Given the description of an element on the screen output the (x, y) to click on. 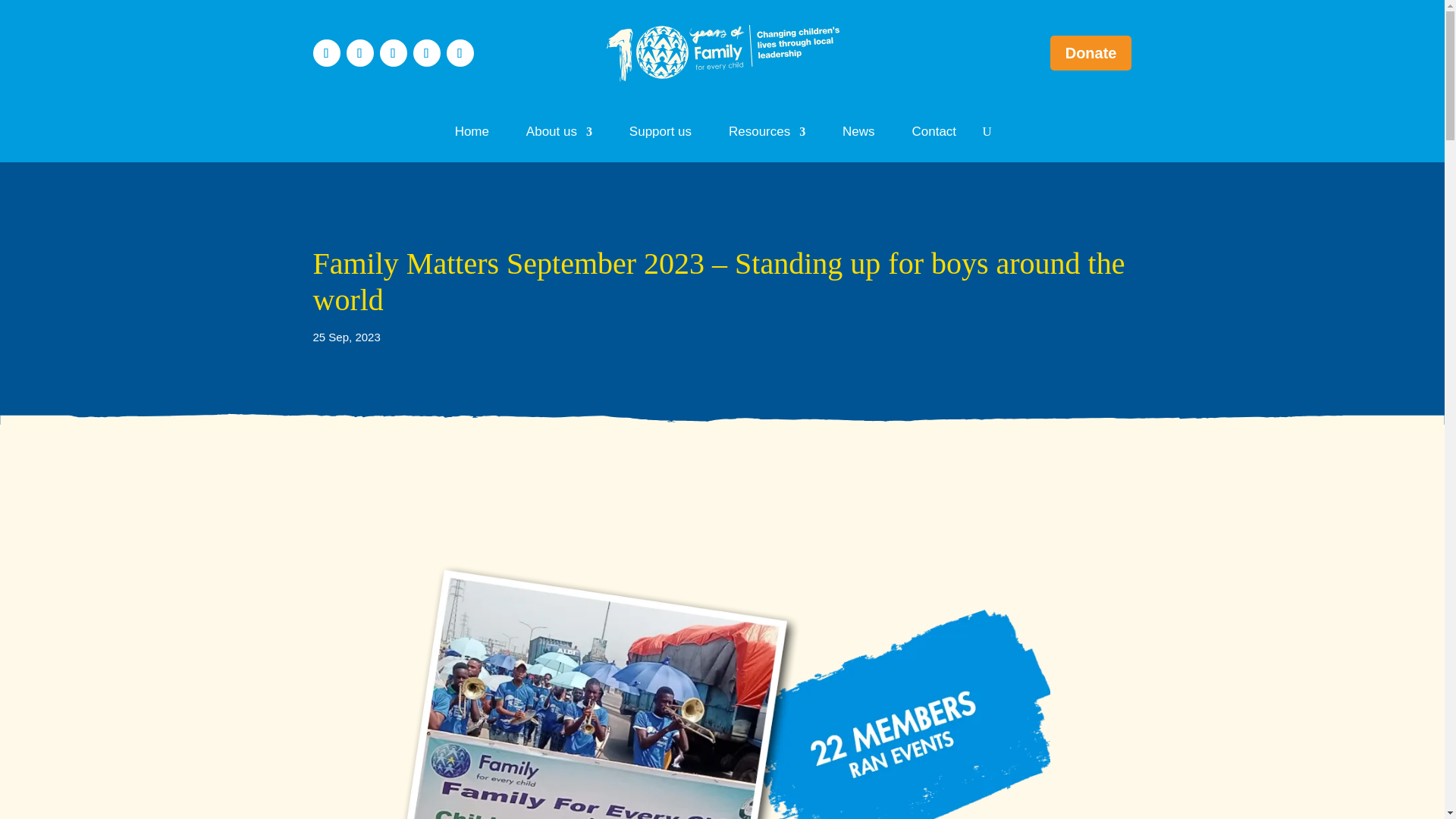
News (859, 134)
10 years logo svg file (722, 53)
Resources (767, 134)
Home (471, 134)
About us (558, 134)
Follow on Youtube (460, 52)
Support us (659, 134)
Contact (933, 134)
Follow on Instagram (427, 52)
Follow on LinkedIn (393, 52)
Follow on Facebook (326, 52)
Donate (1090, 53)
Follow on X (360, 52)
